Given the description of an element on the screen output the (x, y) to click on. 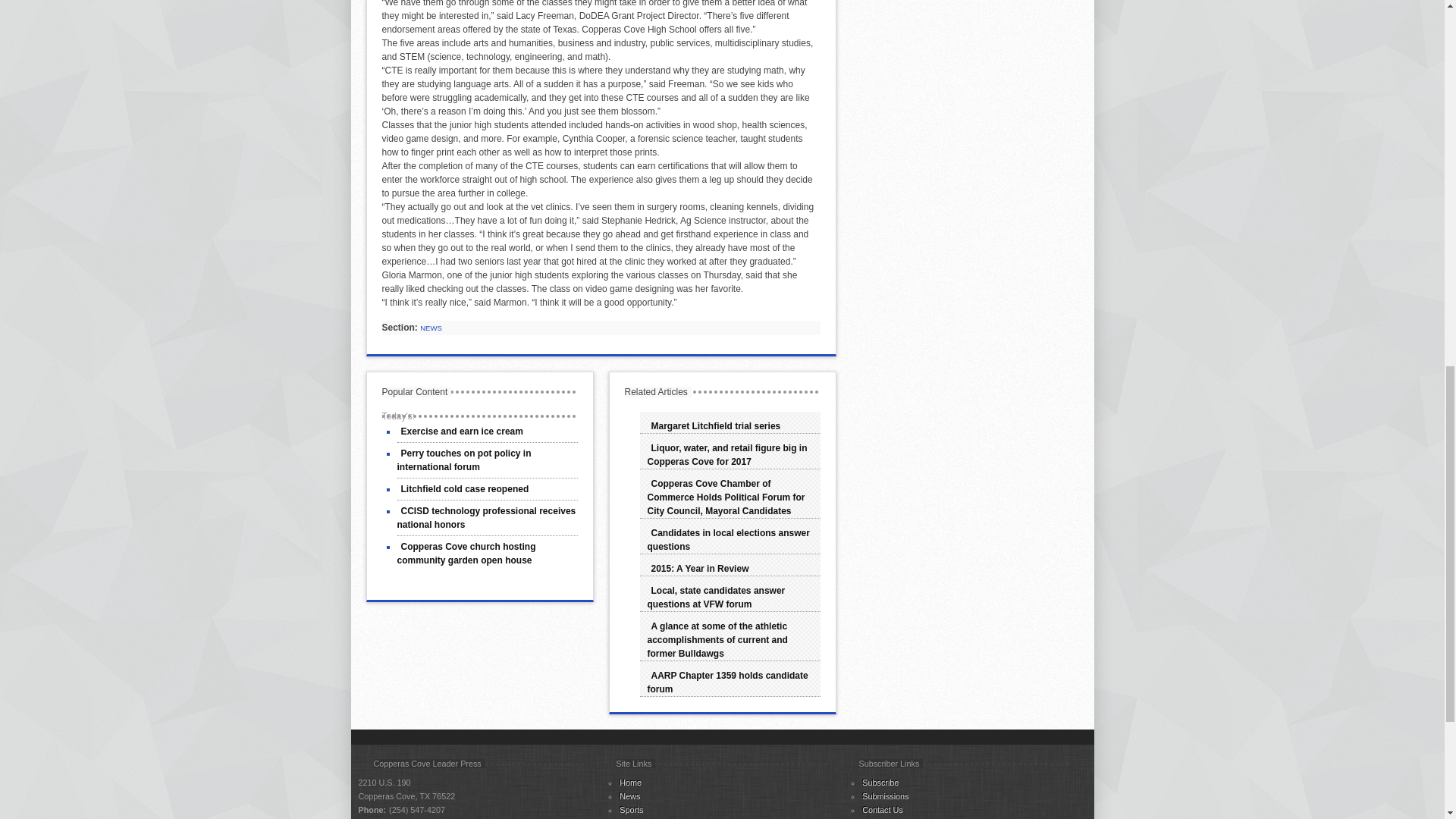
Margaret Litchfield trial series (715, 425)
Litchfield cold case reopened (464, 489)
News (630, 795)
Copperas Cove church hosting community garden open house (466, 553)
Local, state candidates answer questions at VFW forum (716, 597)
NEWS (431, 327)
Exercise and earn ice cream (462, 430)
AARP Chapter 1359 holds candidate forum (727, 682)
CCISD technology professional receives national honors (486, 517)
Candidates in local elections answer questions (728, 539)
Perry touches on pot policy in international forum (464, 459)
2015: A Year in Review (699, 568)
Home (631, 782)
